Given the description of an element on the screen output the (x, y) to click on. 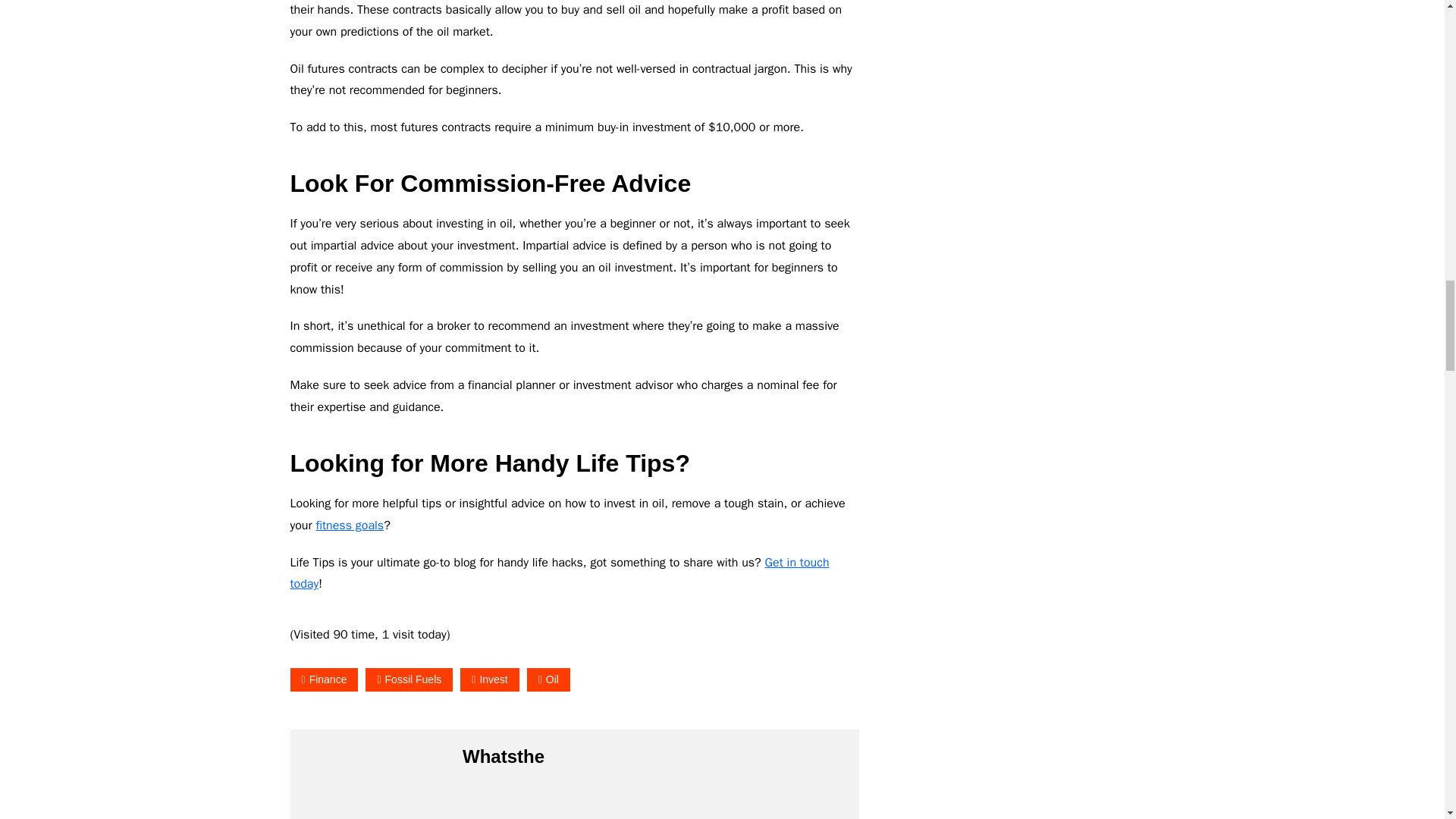
Get in touch today (558, 573)
Oil (548, 679)
fitness goals (349, 525)
Invest (489, 679)
Finance (323, 679)
Fossil Fuels (408, 679)
